Given the description of an element on the screen output the (x, y) to click on. 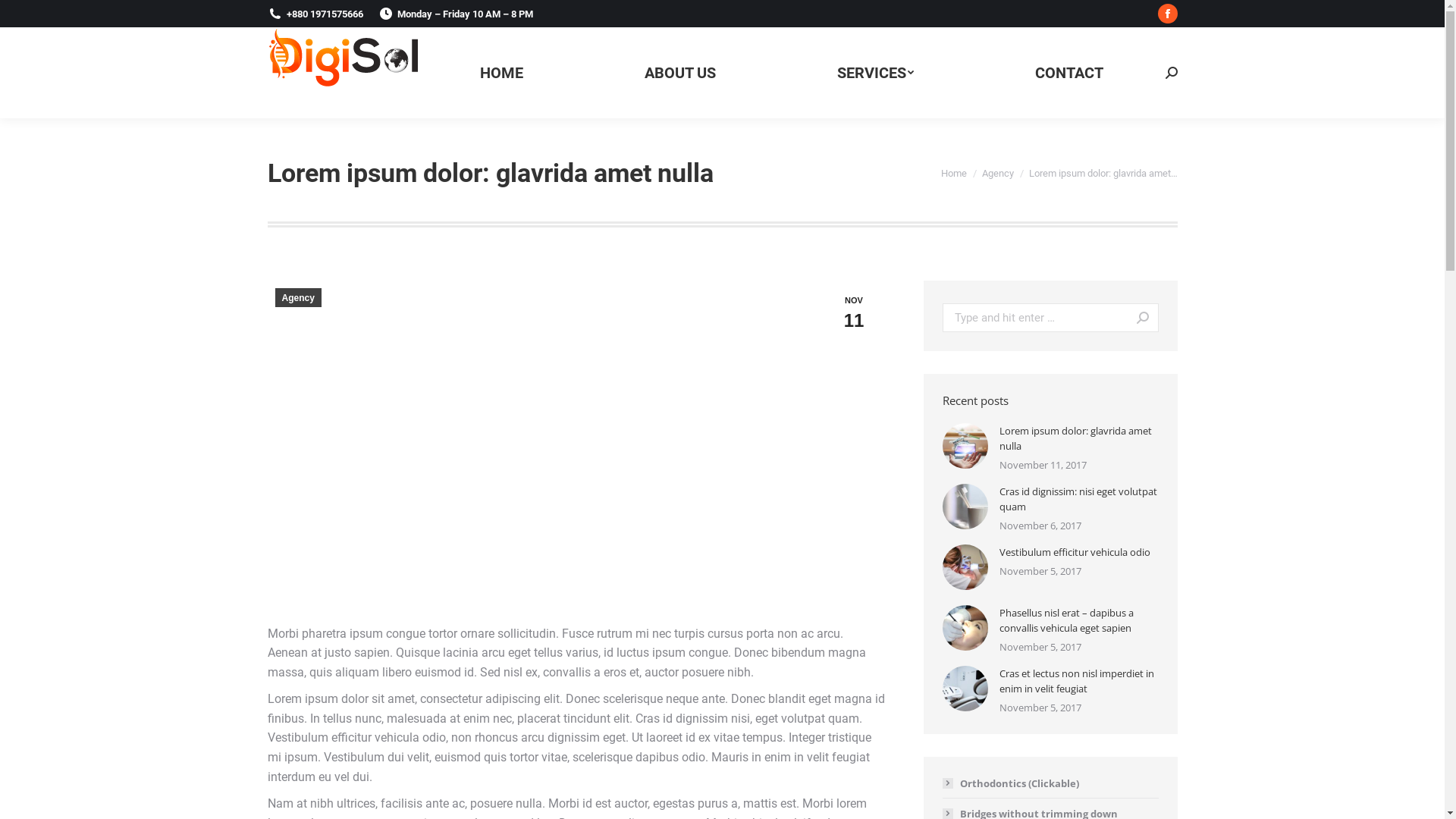
Go! Element type: text (1135, 317)
Post Comment Element type: text (49, 15)
Lorem ipsum dolor: glavrida amet nulla Element type: text (1078, 438)
HOME Element type: text (500, 72)
Vestibulum efficitur vehicula odio Element type: text (1074, 551)
Home Element type: text (953, 172)
Cras id dignissim: nisi eget volutpat quam Element type: text (1078, 498)
NOV
11 Element type: text (853, 311)
Orthodontics (Clickable) Element type: text (1009, 782)
Go! Element type: text (21, 15)
CONTACT Element type: text (1068, 72)
Agency Element type: text (997, 172)
SERVICES Element type: text (875, 72)
Cras et lectus non nisl imperdiet in enim in velit feugiat Element type: text (1078, 680)
Agency Element type: text (297, 297)
ABOUT US Element type: text (679, 72)
Facebook page opens in new window Element type: text (1166, 13)
